Given the description of an element on the screen output the (x, y) to click on. 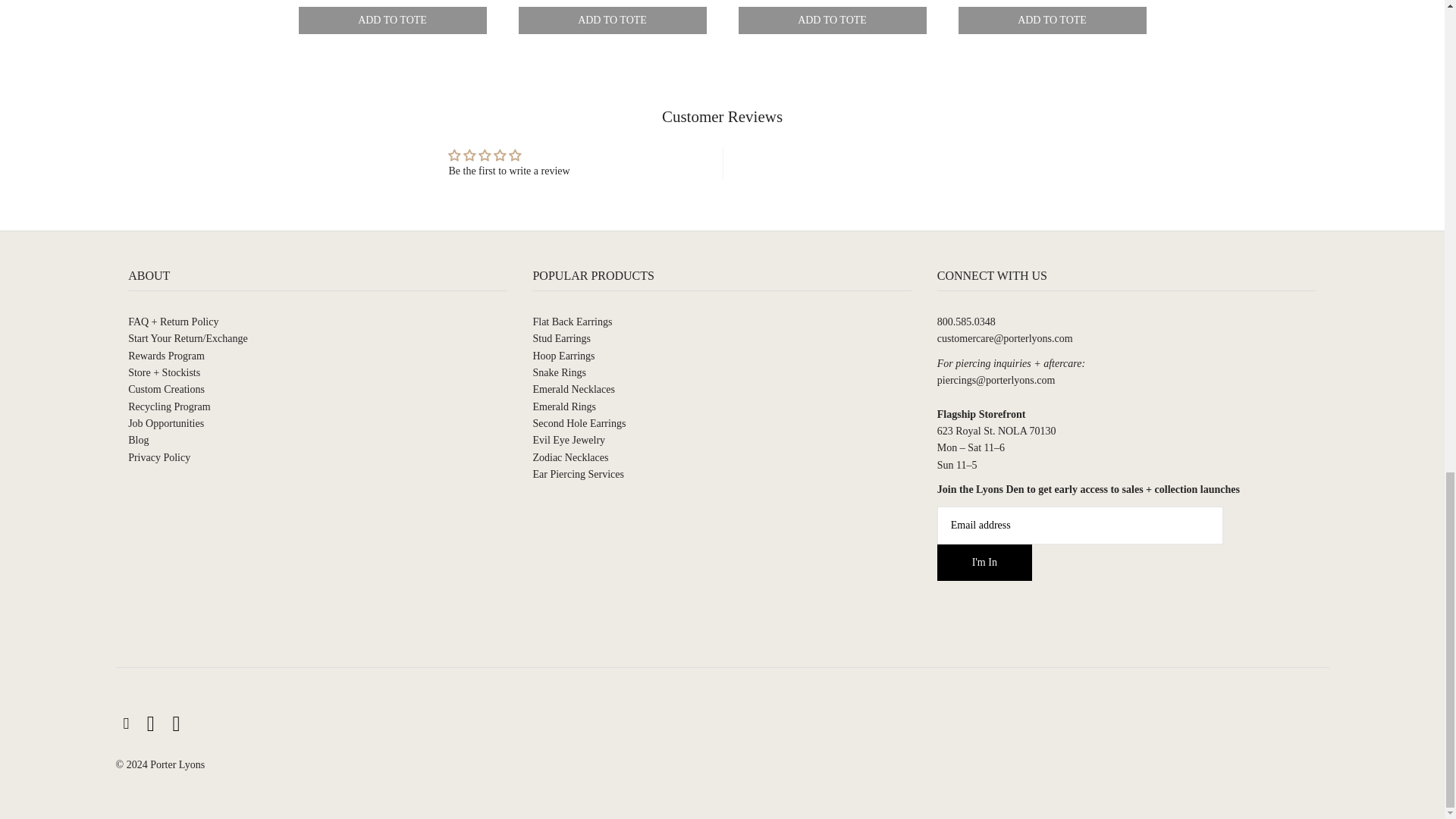
I'm In (984, 562)
